Given the description of an element on the screen output the (x, y) to click on. 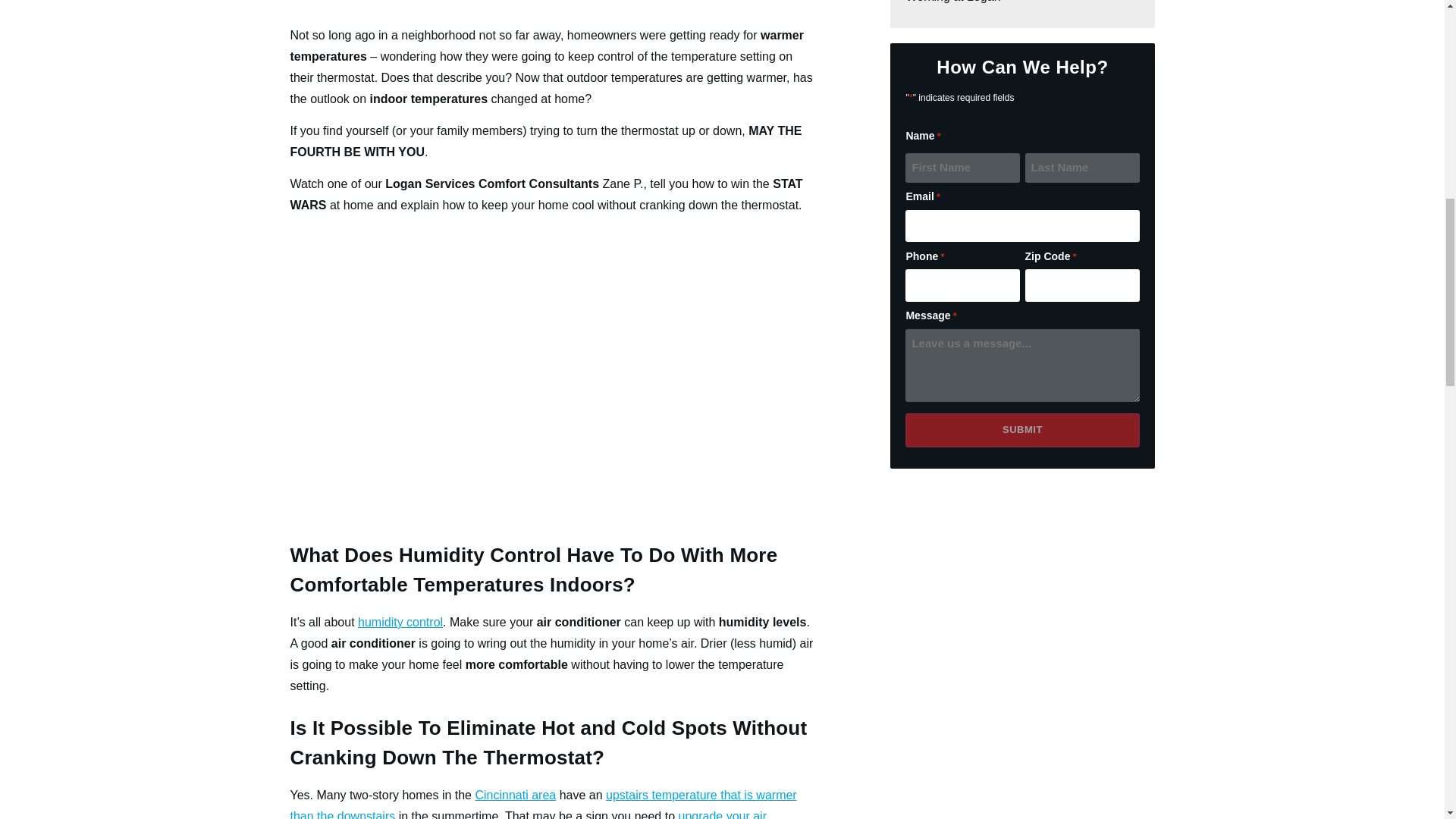
Submit (1021, 430)
